Given the description of an element on the screen output the (x, y) to click on. 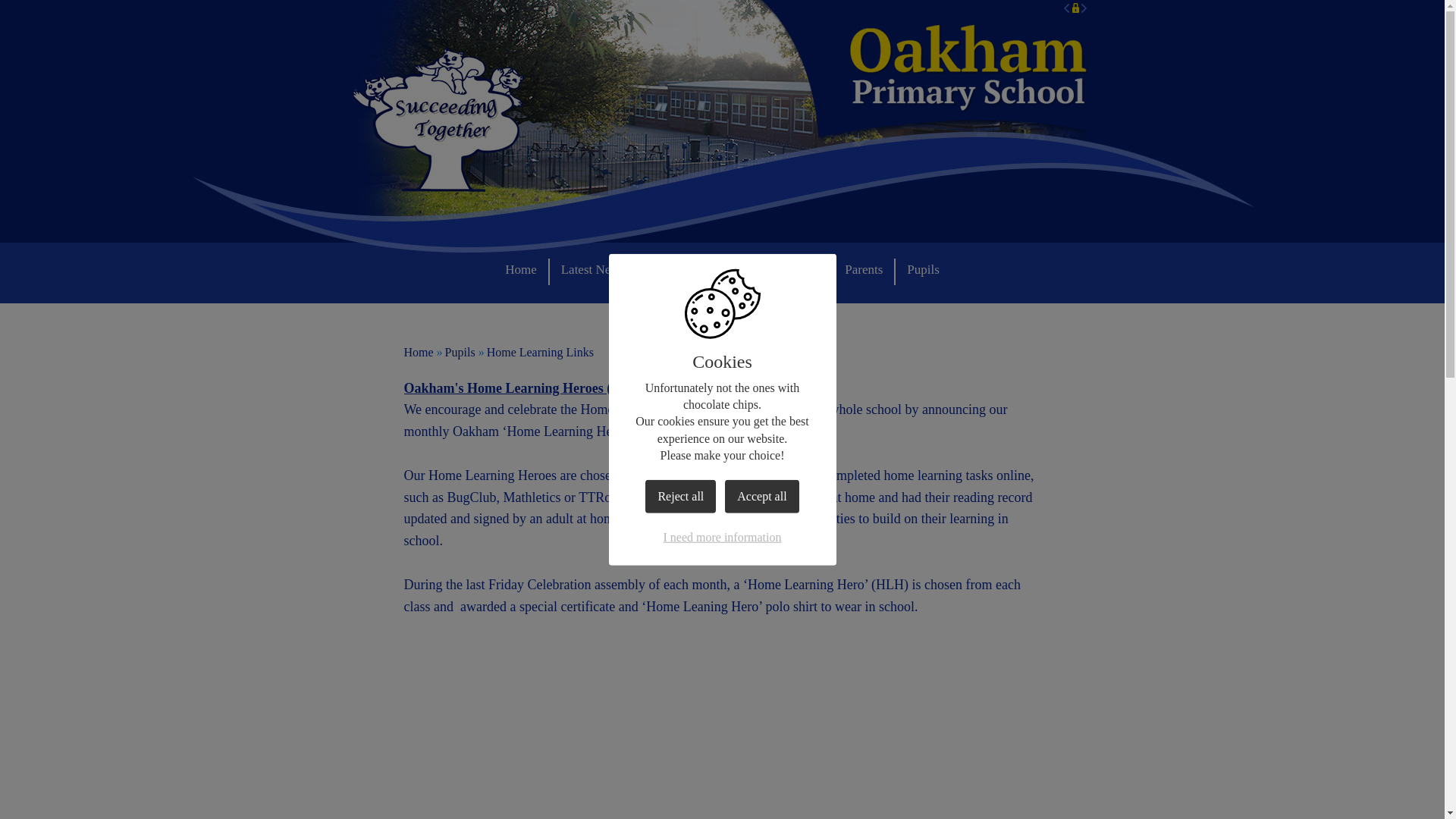
Home Learning Links (540, 351)
School Information (710, 271)
Home (417, 351)
Log in (1074, 8)
Pupils (460, 351)
Home Page (968, 65)
Home (531, 271)
Home Page (968, 65)
Latest News (604, 271)
Learning (808, 271)
